Given the description of an element on the screen output the (x, y) to click on. 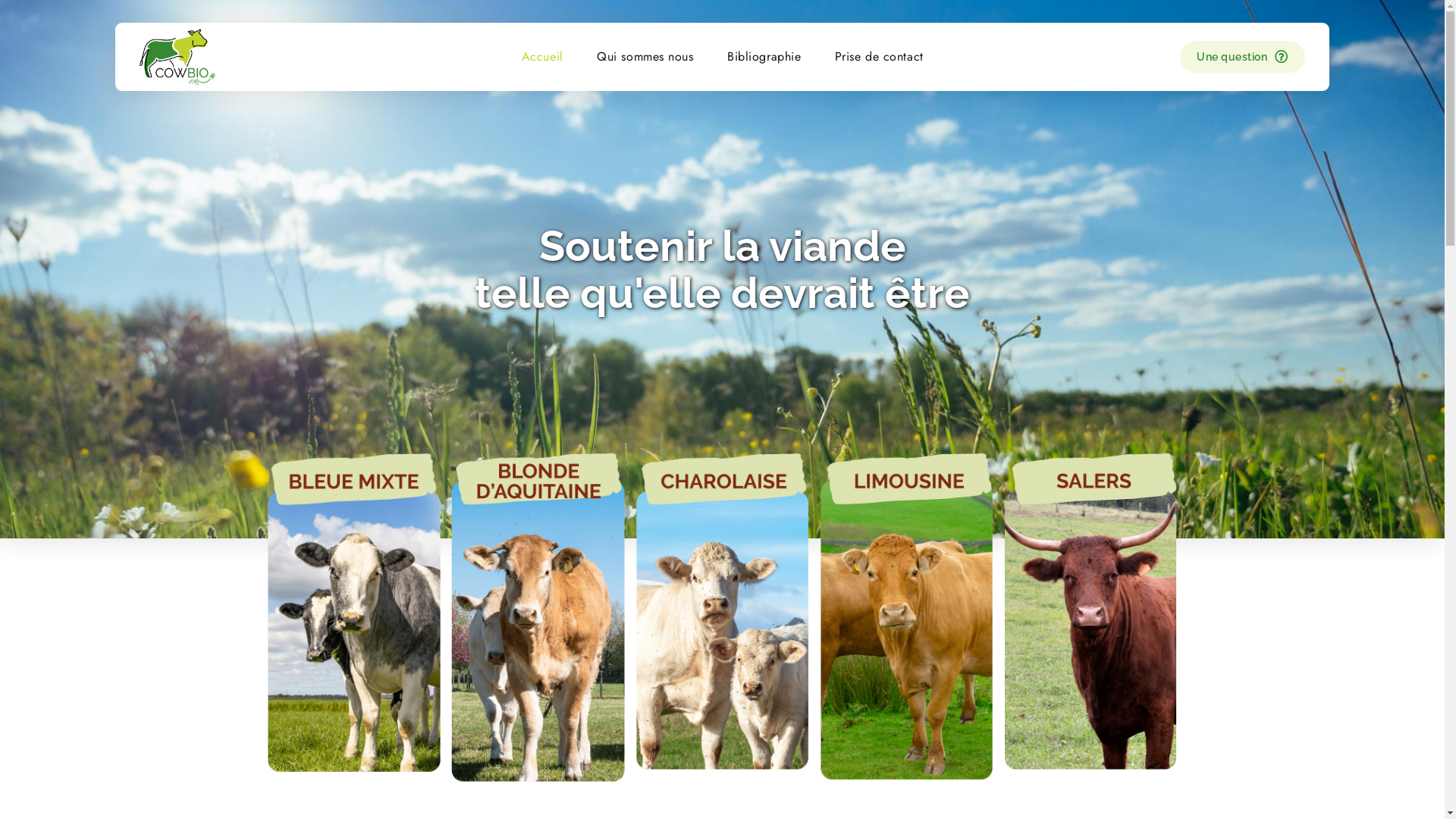
Bibliographie Element type: text (764, 56)
Qui sommes nous Element type: text (645, 56)
Une question Element type: text (1242, 56)
Prise de contact Element type: text (878, 56)
Accueil Element type: text (541, 56)
